Given the description of an element on the screen output the (x, y) to click on. 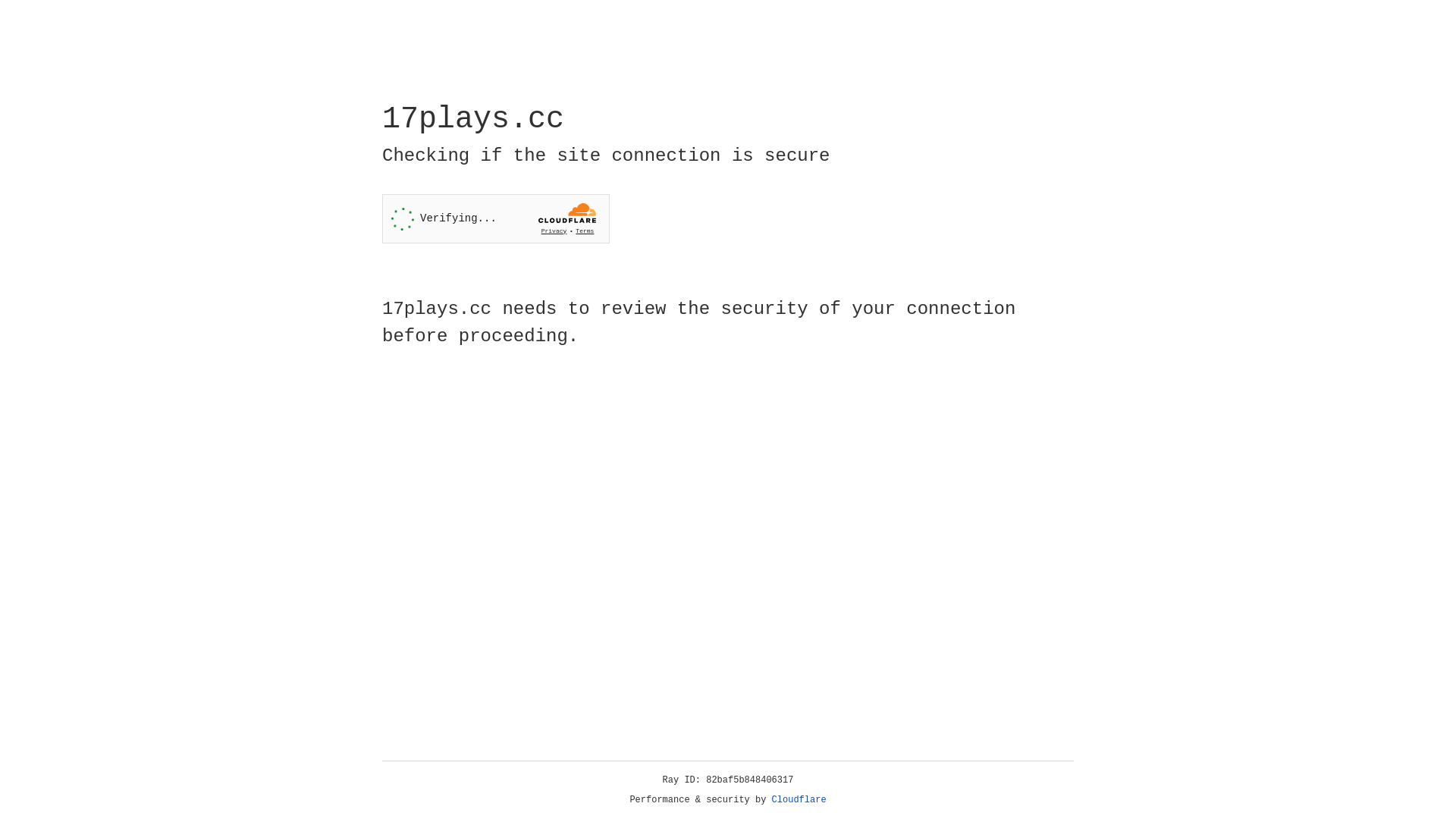
Widget containing a Cloudflare security challenge Element type: hover (495, 218)
Cloudflare Element type: text (798, 799)
